Given the description of an element on the screen output the (x, y) to click on. 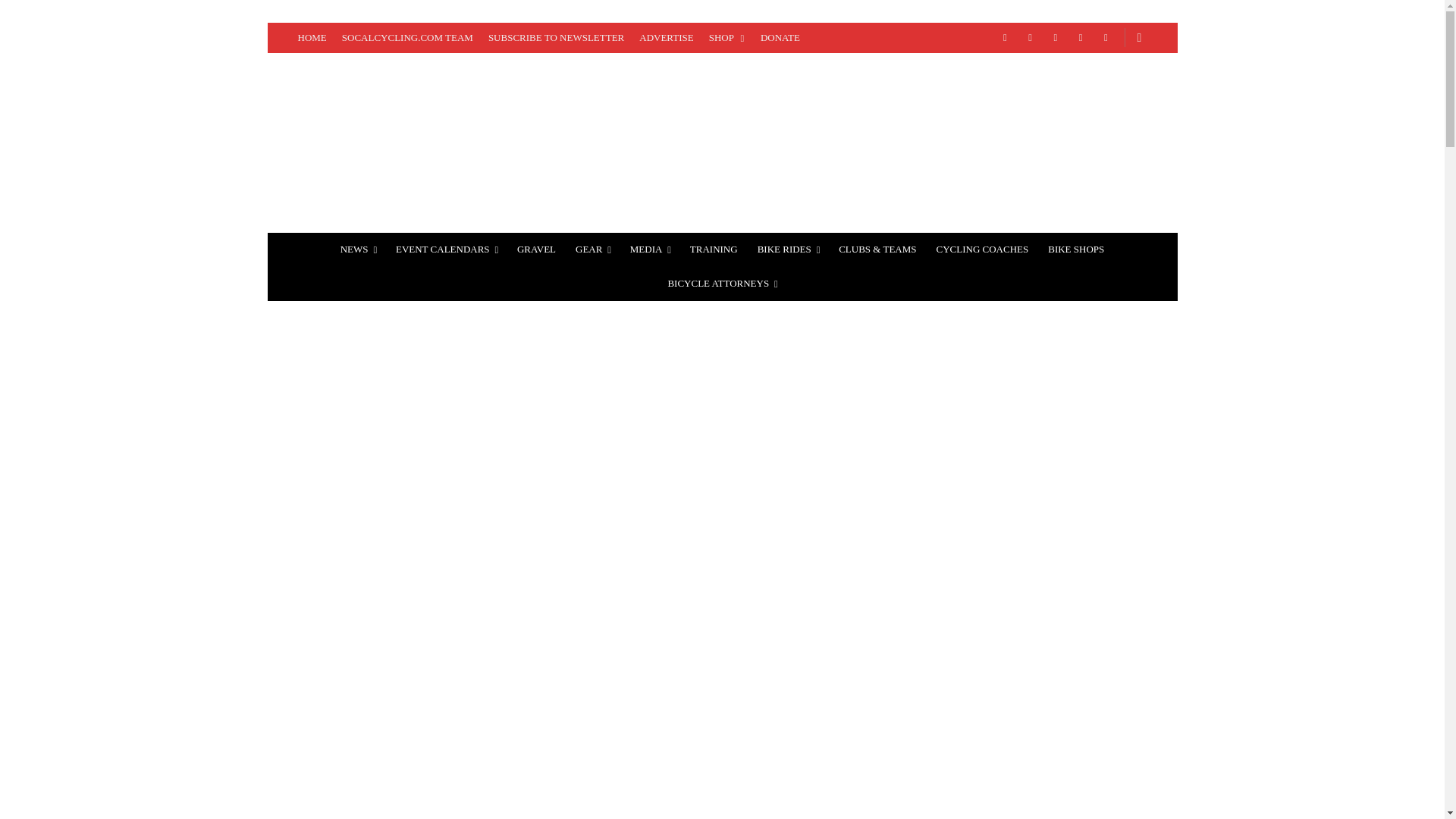
SUBSCRIBE TO NEWSLETTER (555, 37)
ADVERTISE (665, 37)
DONATE (780, 37)
SOCALCYCLING.COM TEAM (407, 37)
NEWS (357, 249)
HOME (311, 37)
SHOP (726, 37)
